Given the description of an element on the screen output the (x, y) to click on. 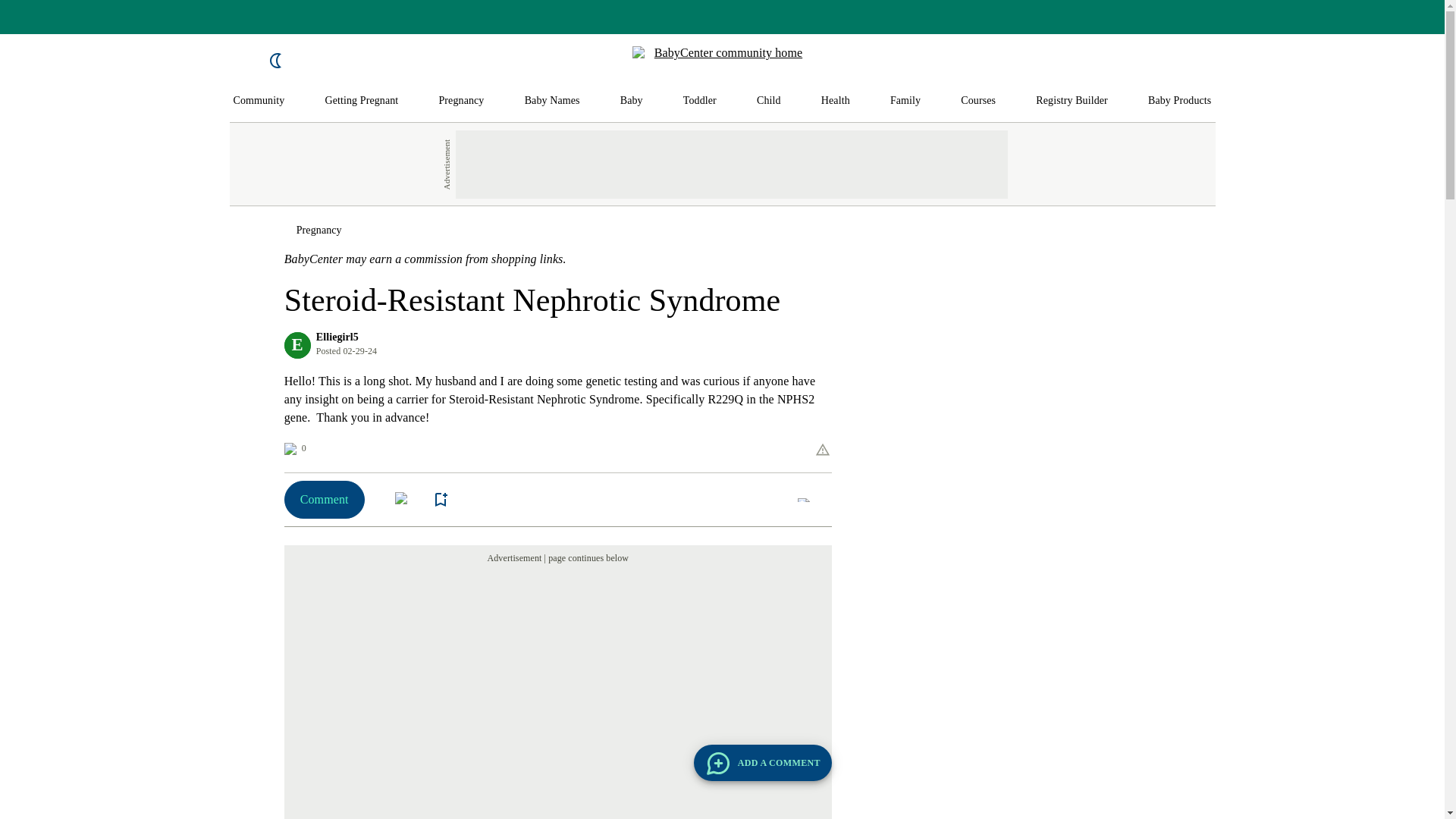
Pregnancy (460, 101)
Health (835, 101)
Baby Names (551, 101)
Baby (631, 101)
Family (904, 101)
Registry Builder (1071, 101)
Community (258, 101)
Toddler (699, 101)
Baby Products (1179, 101)
Child (768, 101)
Courses (977, 101)
Getting Pregnant (360, 101)
